Given the description of an element on the screen output the (x, y) to click on. 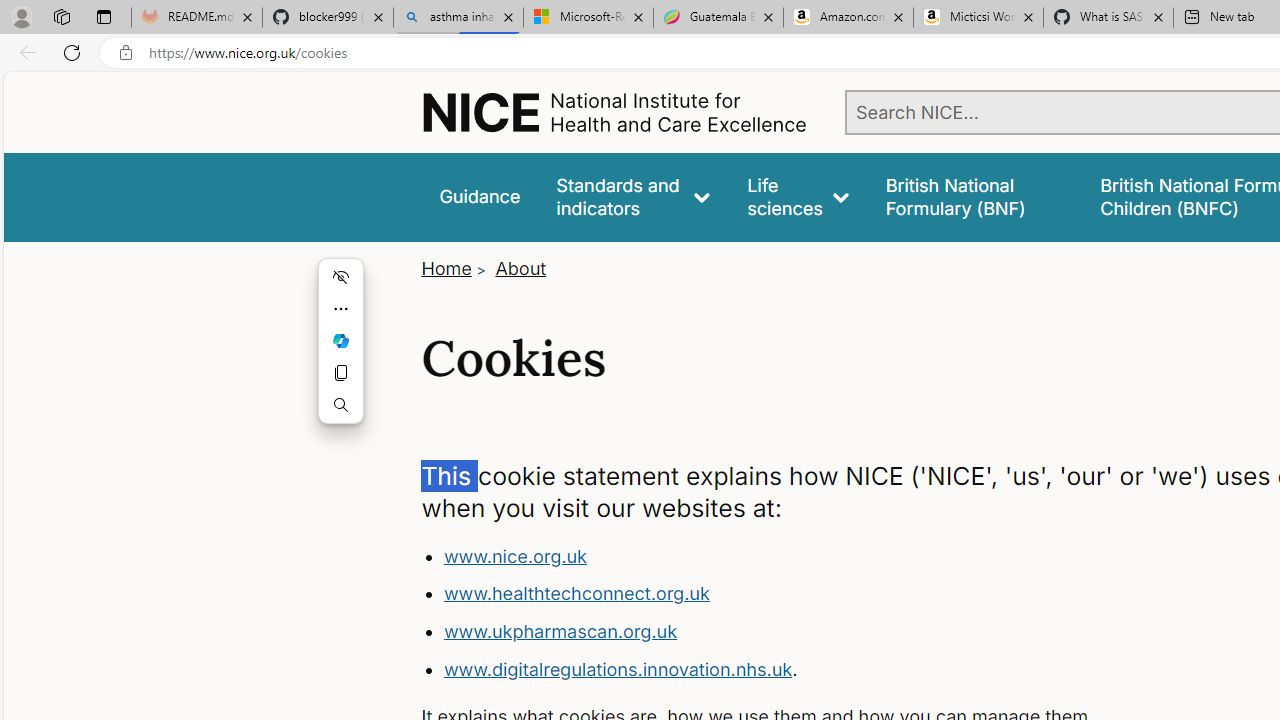
www.healthtechconnect.org.uk (576, 593)
Guidance (479, 196)
About (520, 268)
Guidance (479, 196)
About (520, 268)
www.digitalregulations.innovation.nhs.uk (617, 668)
